Given the description of an element on the screen output the (x, y) to click on. 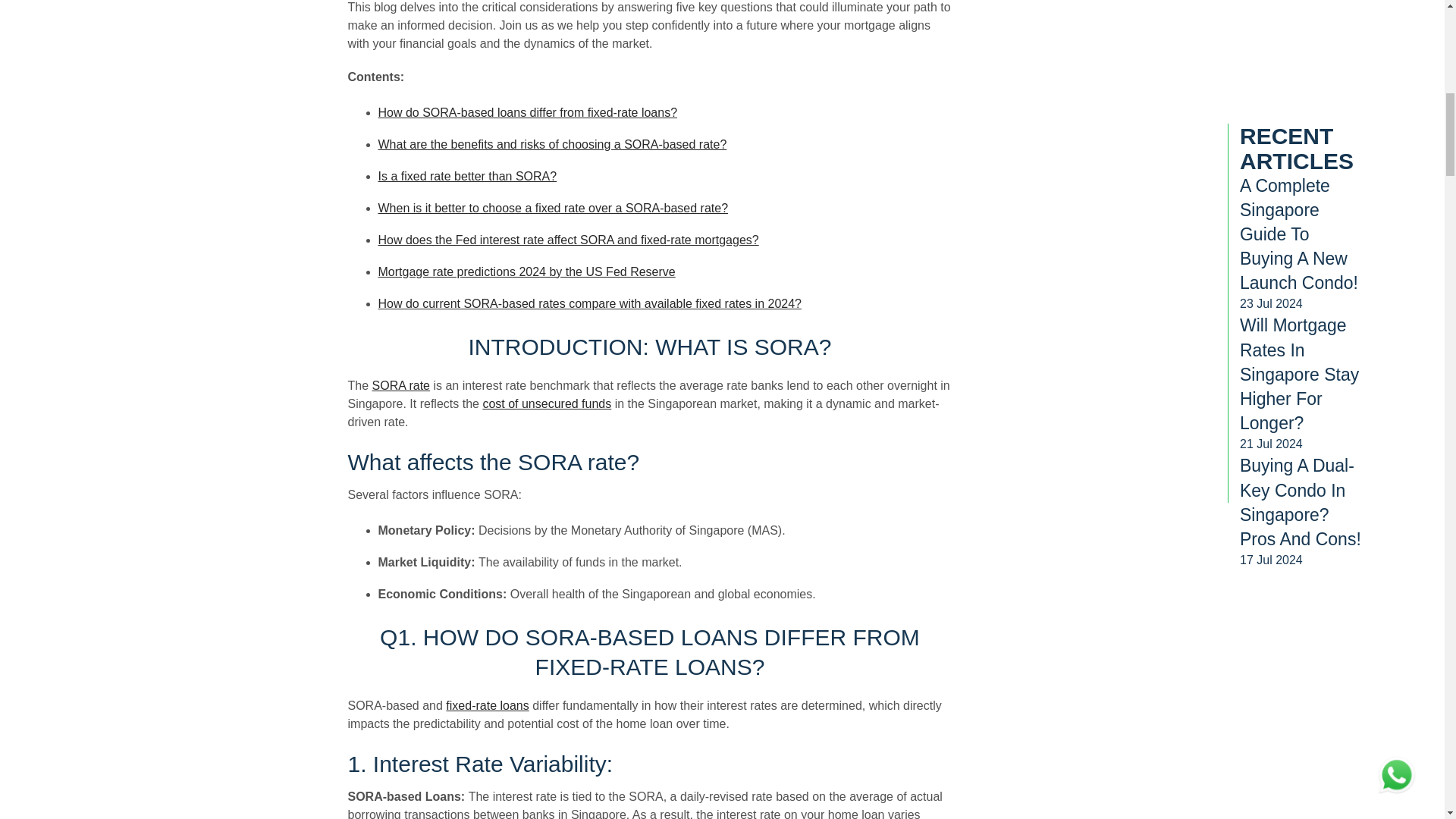
Is a fixed rate better than SORA? (466, 175)
How do SORA-based loans differ from fixed-rate loans? (527, 112)
fixed-rate loans (486, 705)
cost of unsecured funds (546, 403)
Mortgage rate predictions 2024 by the US Fed Reserve (526, 271)
SORA rate (400, 385)
